Given the description of an element on the screen output the (x, y) to click on. 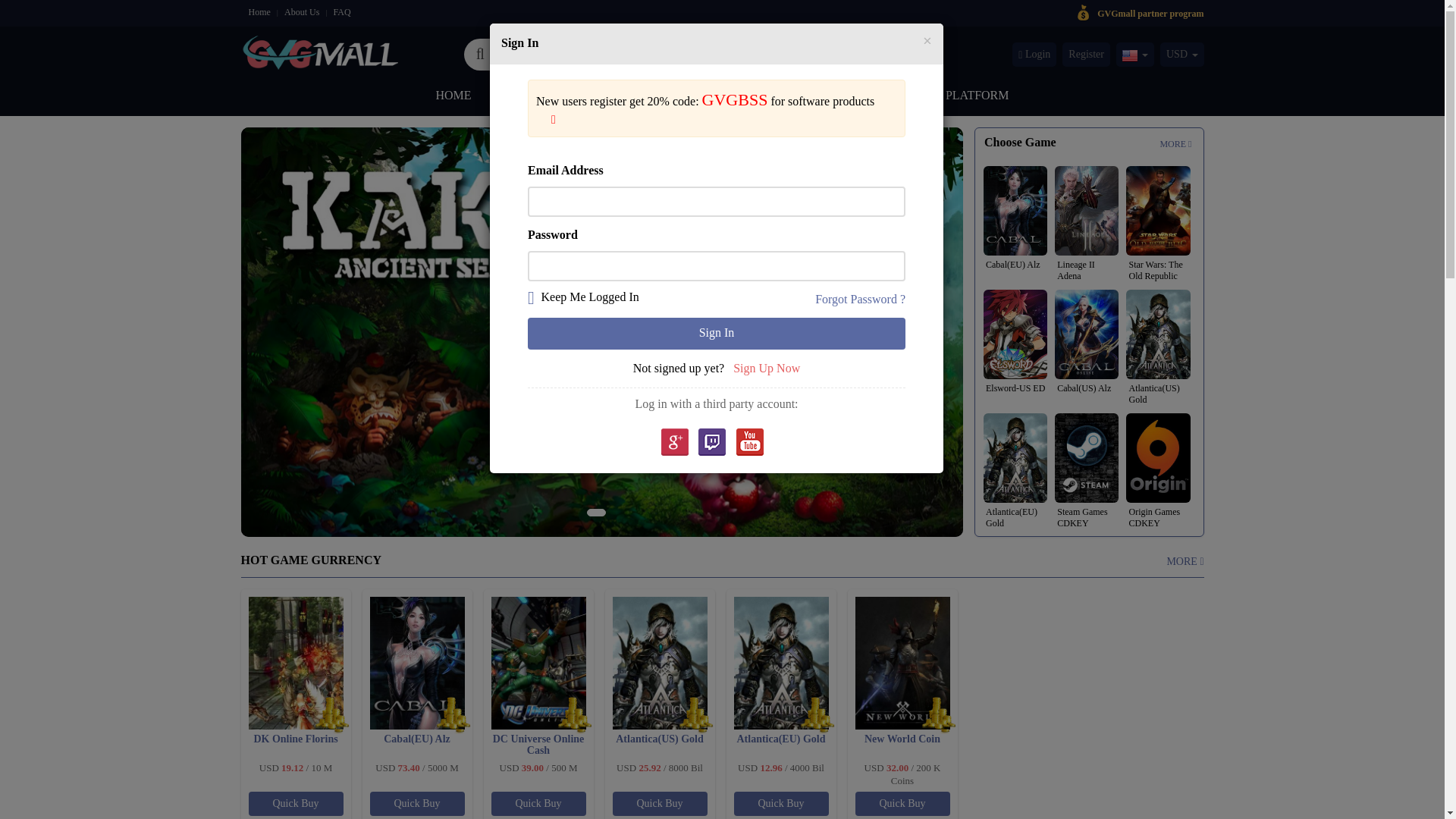
HOME (453, 98)
About Us (300, 11)
DK Online Florins (295, 745)
FAQ (341, 11)
DC Universe Online Cash (539, 745)
GVGmall partner program (1150, 11)
New World Coin (903, 745)
IN-GAME CURRENCY (579, 98)
Register (1085, 54)
Login (1034, 54)
Home (259, 11)
GVGMall (320, 49)
